Given the description of an element on the screen output the (x, y) to click on. 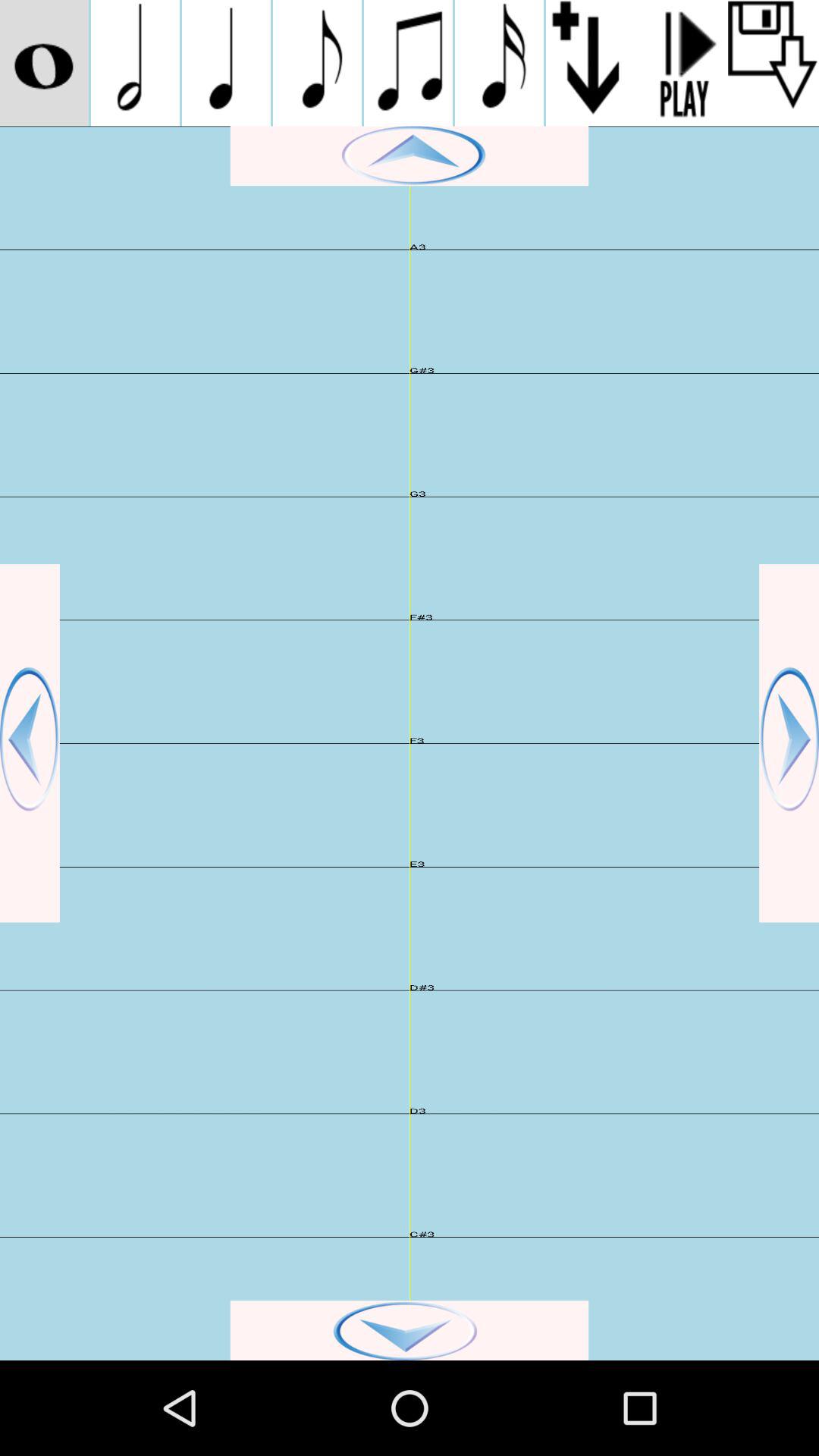
go do music (317, 63)
